Given the description of an element on the screen output the (x, y) to click on. 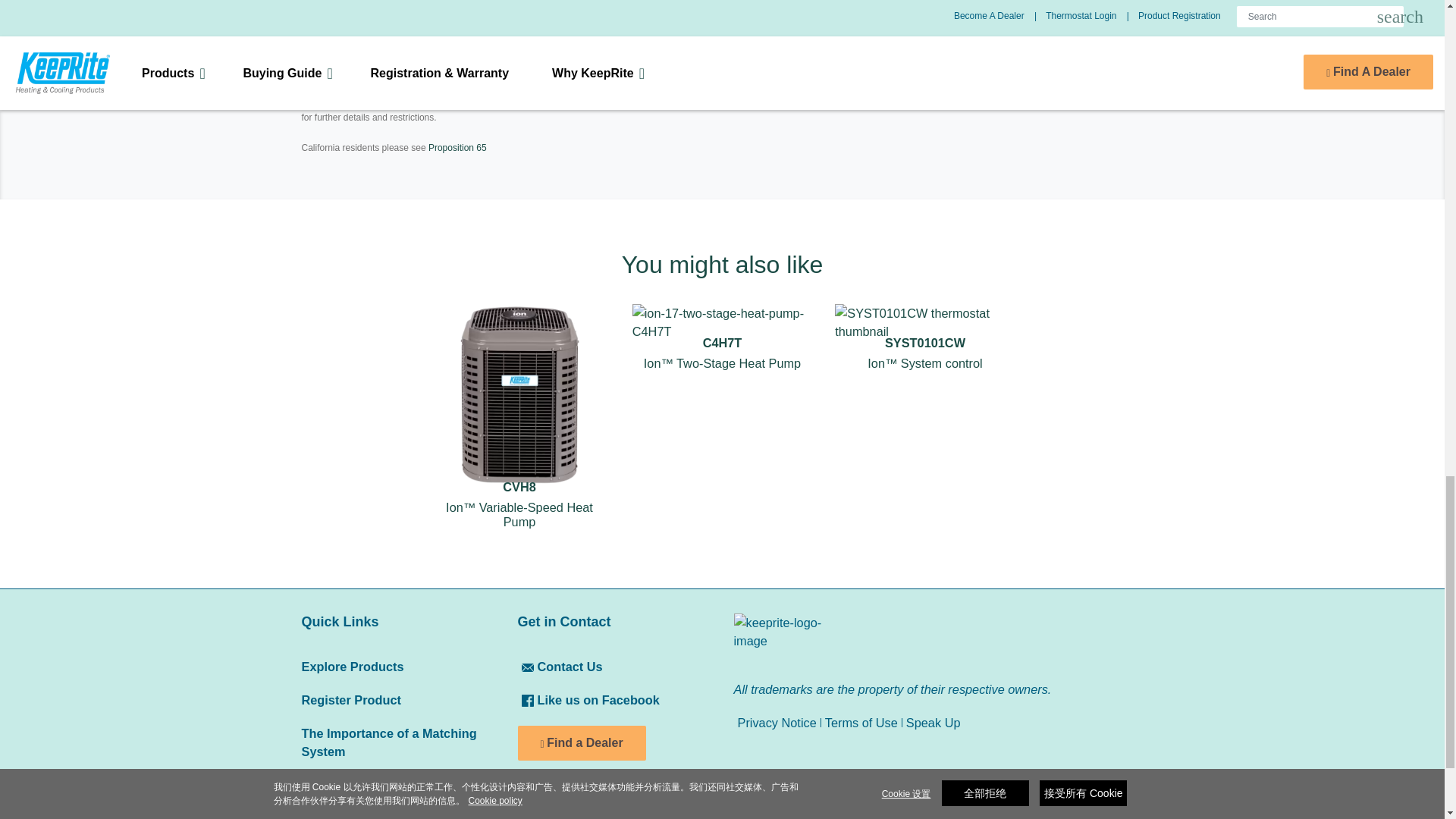
Like us on Facebook (587, 699)
Contact Us (559, 666)
Find a Dealer (580, 742)
Facebook (527, 700)
Contact Us (527, 666)
